Given the description of an element on the screen output the (x, y) to click on. 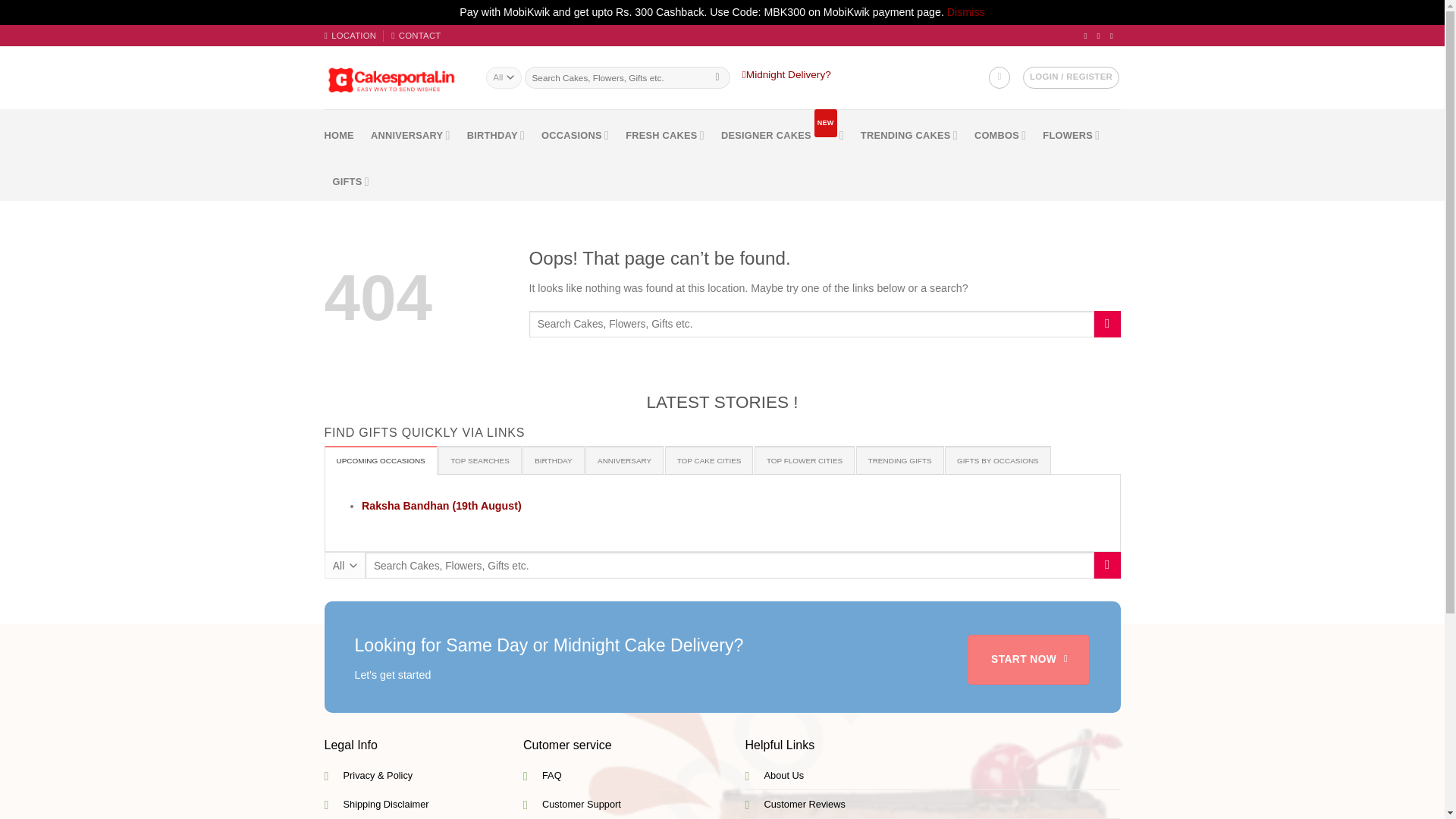
Follow on Twitter (1101, 35)
Dismiss (966, 11)
Login (1071, 76)
Send us an email (1113, 35)
CONTACT (416, 35)
BIRTHDAY (495, 135)
Cart (999, 76)
Follow on Facebook (1087, 35)
HOME (338, 135)
Search (717, 77)
Delhi (350, 35)
OCCASIONS (574, 135)
LOCATION (350, 35)
ANNIVERSARY (410, 135)
